Given the description of an element on the screen output the (x, y) to click on. 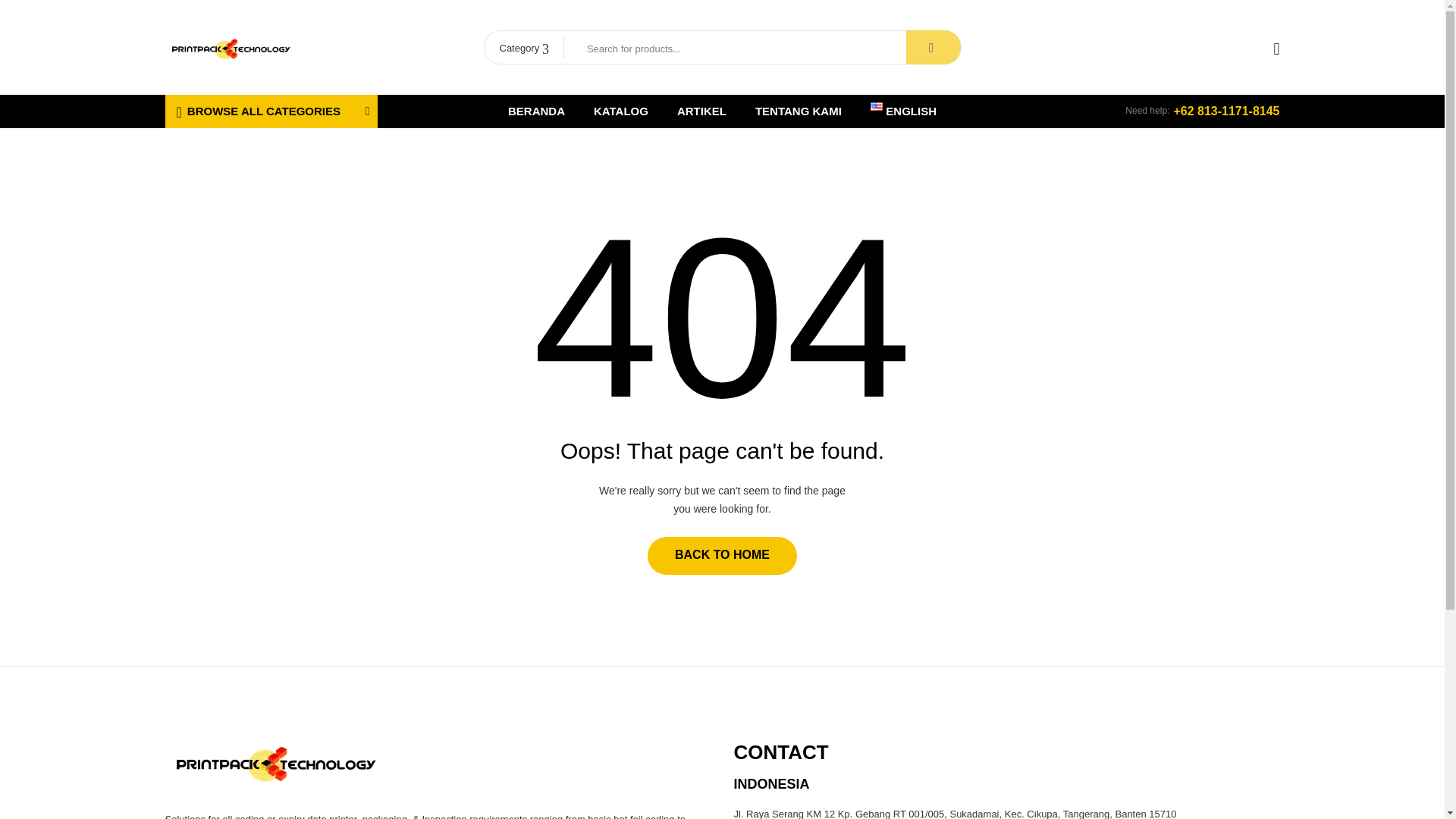
KATALOG (620, 111)
ENGLISH (903, 111)
TENTANG KAMI (798, 111)
Search (932, 47)
ARTIKEL (701, 111)
BERANDA (536, 111)
